Given the description of an element on the screen output the (x, y) to click on. 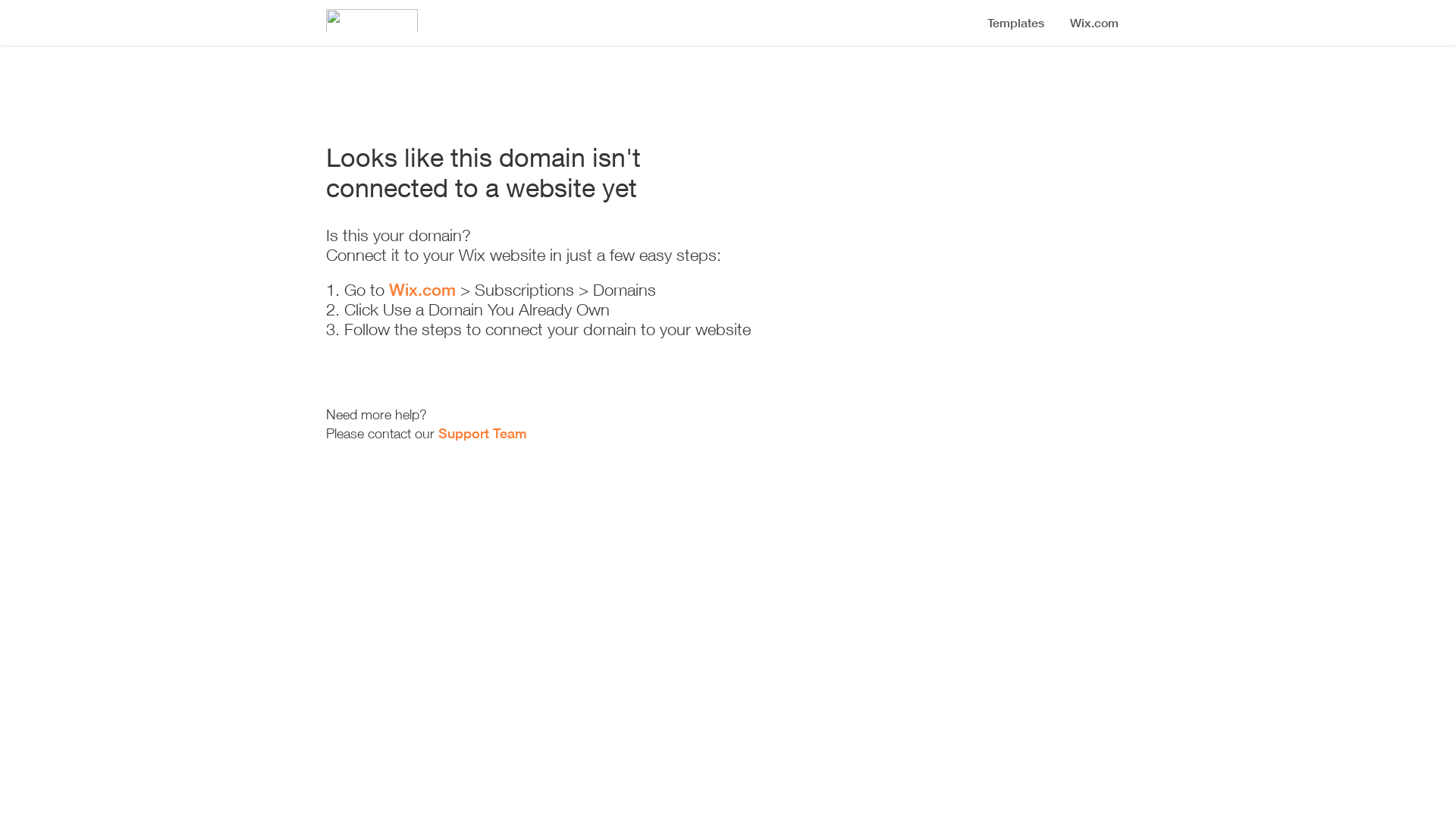
Support Team Element type: text (482, 432)
Wix.com Element type: text (422, 289)
